Given the description of an element on the screen output the (x, y) to click on. 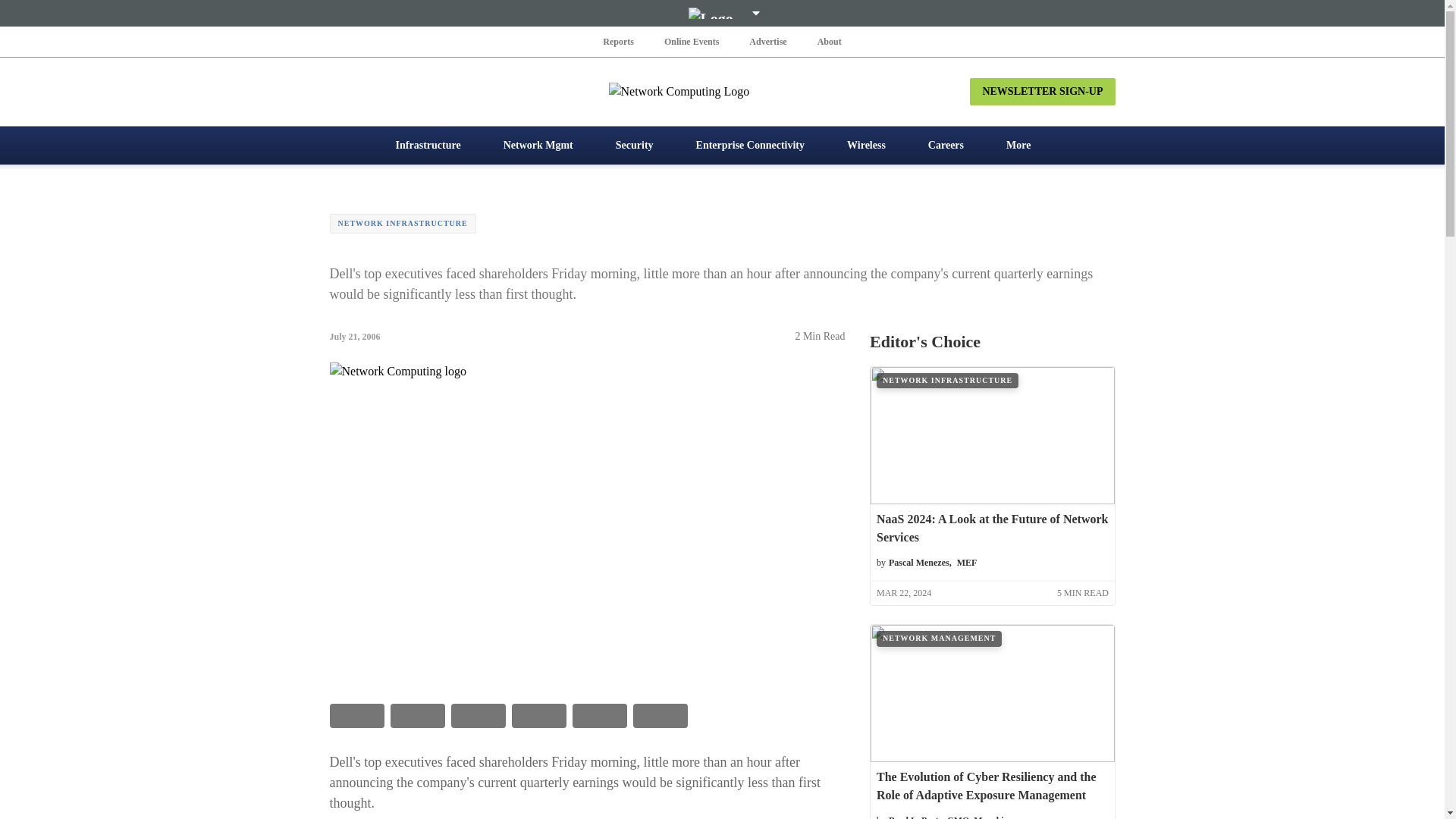
Advertise (767, 41)
About (828, 41)
Reports (618, 41)
Online Events (691, 41)
NEWSLETTER SIGN-UP (1042, 90)
Network Computing Logo (721, 91)
